Given the description of an element on the screen output the (x, y) to click on. 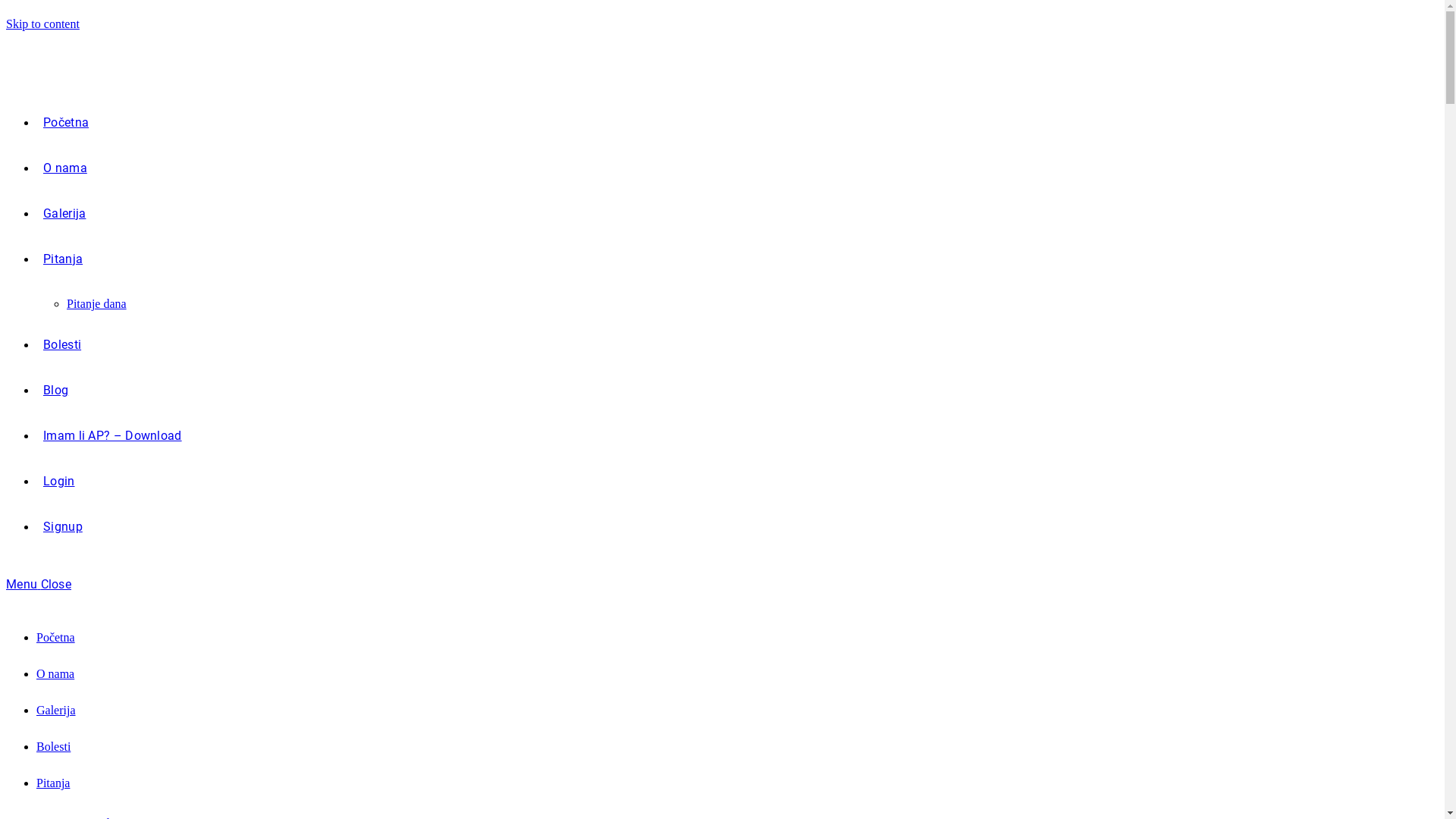
Pitanja Element type: text (62, 258)
Blog Element type: text (55, 389)
Pitanja Element type: text (52, 782)
Skip to content Element type: text (42, 23)
Galerija Element type: text (55, 709)
O nama Element type: text (55, 673)
Bolesti Element type: text (53, 746)
Signup Element type: text (62, 526)
Galerija Element type: text (64, 213)
O nama Element type: text (65, 167)
Login Element type: text (58, 480)
Bolesti Element type: text (61, 344)
Menu Close Element type: text (38, 584)
Pitanje dana Element type: text (96, 303)
